Given the description of an element on the screen output the (x, y) to click on. 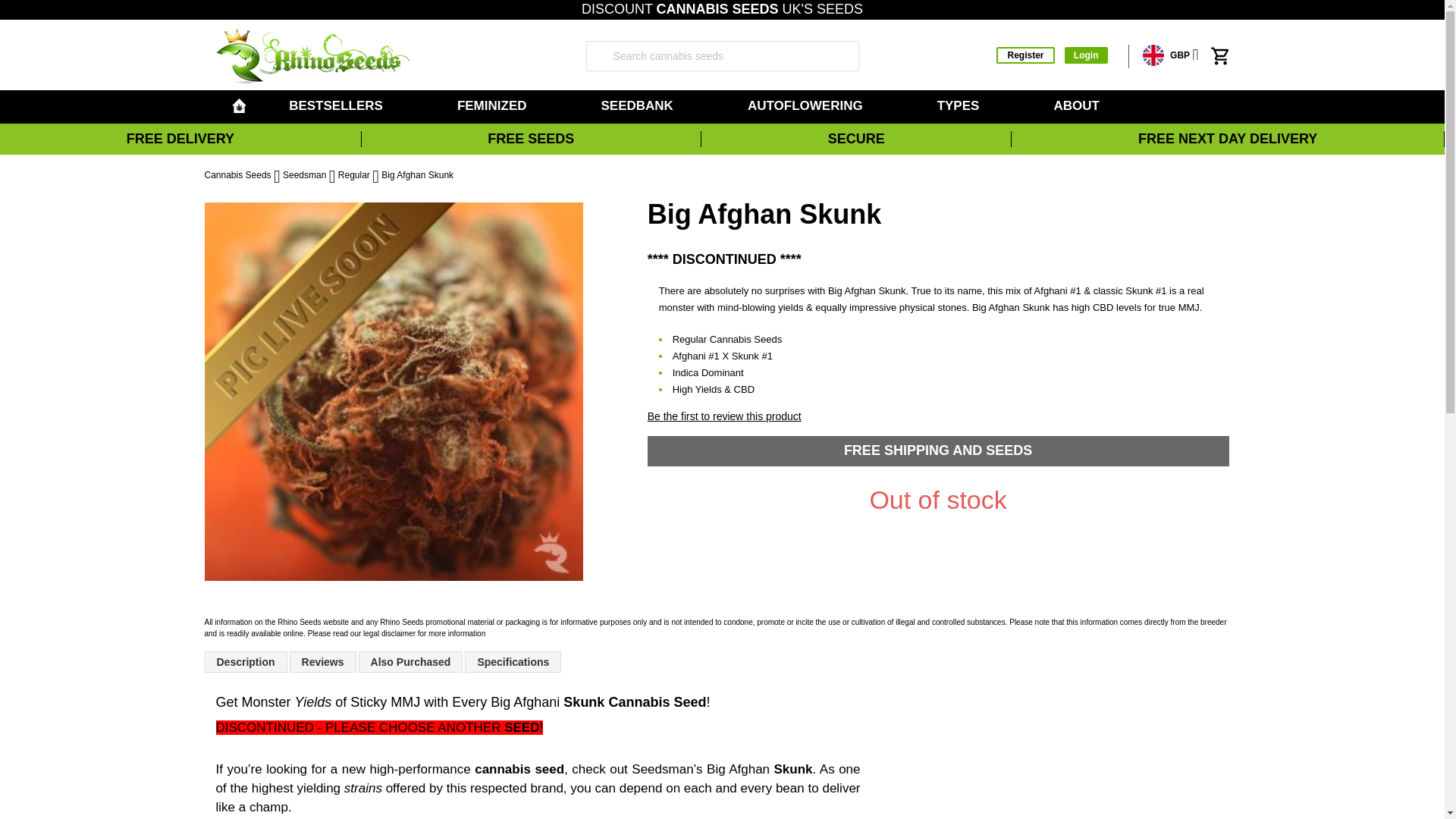
SEEDBANK (639, 106)
Feminized Seeds (494, 106)
Register (1024, 54)
Best Selling Cannabis Seeds (338, 106)
BESTSELLERS (338, 106)
FEMINIZED (494, 106)
Login (1086, 54)
home (238, 105)
